Given the description of an element on the screen output the (x, y) to click on. 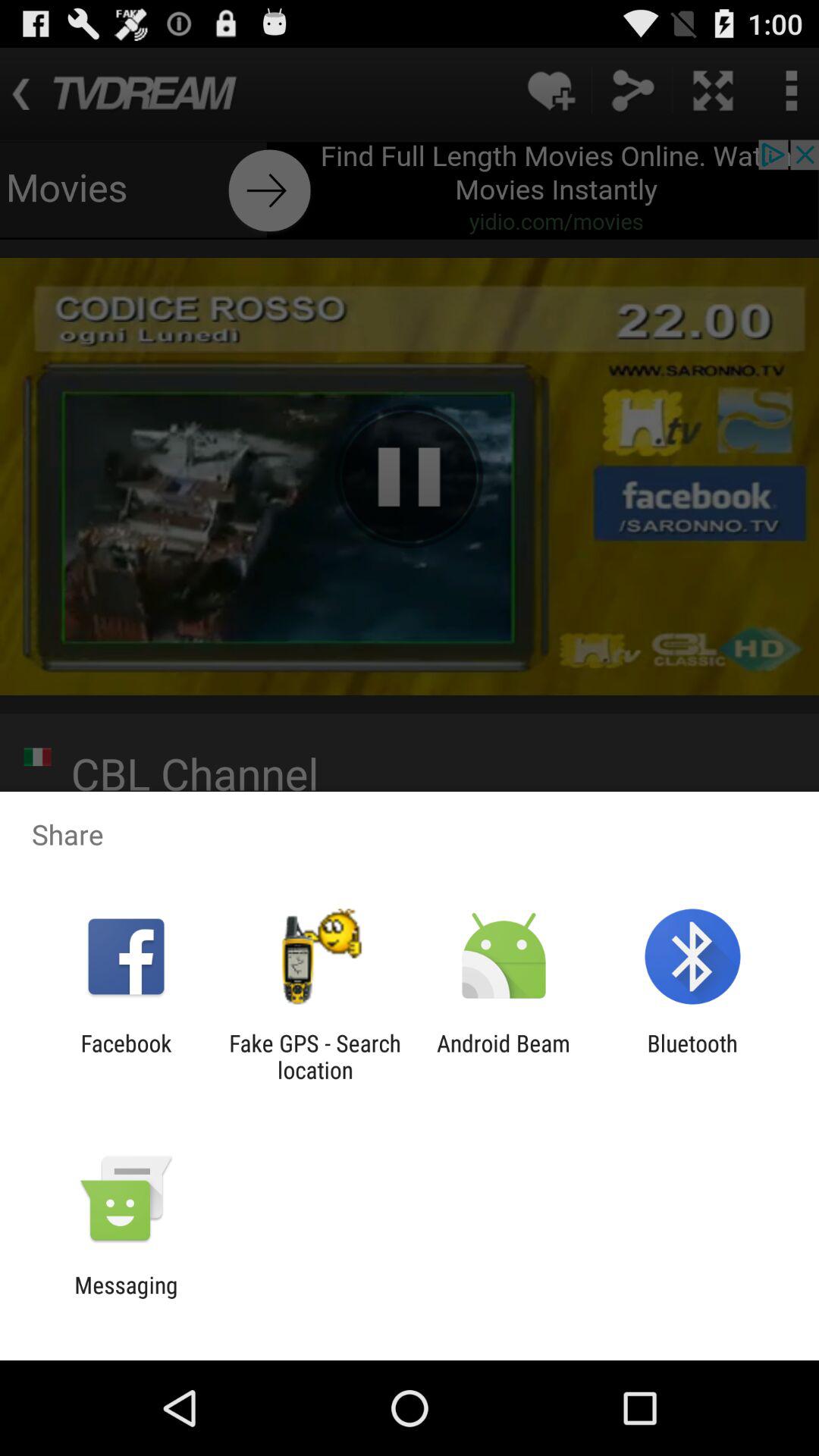
tap bluetooth icon (692, 1056)
